Given the description of an element on the screen output the (x, y) to click on. 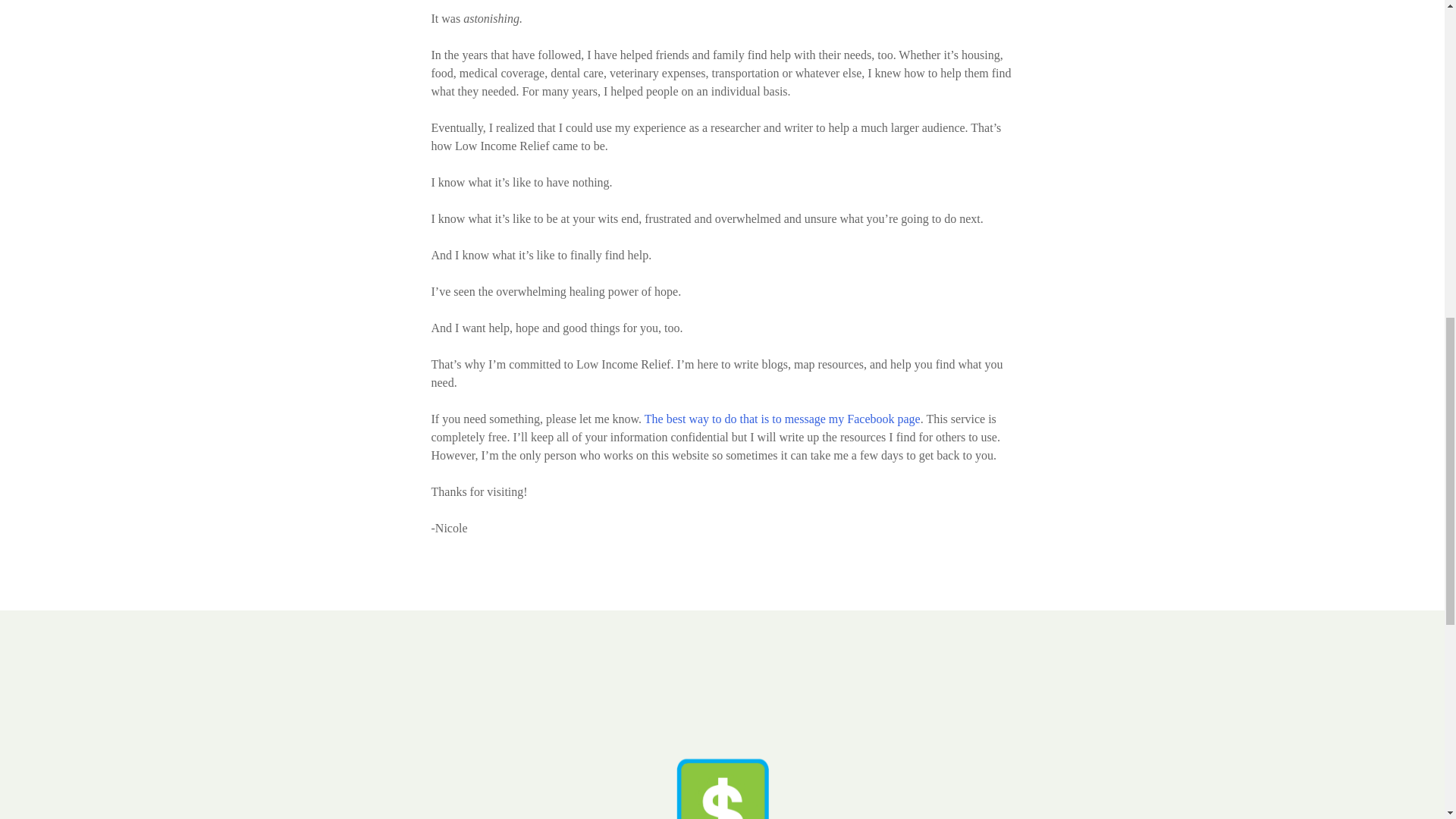
The best way to do that is to message my Facebook page (782, 418)
